Given the description of an element on the screen output the (x, y) to click on. 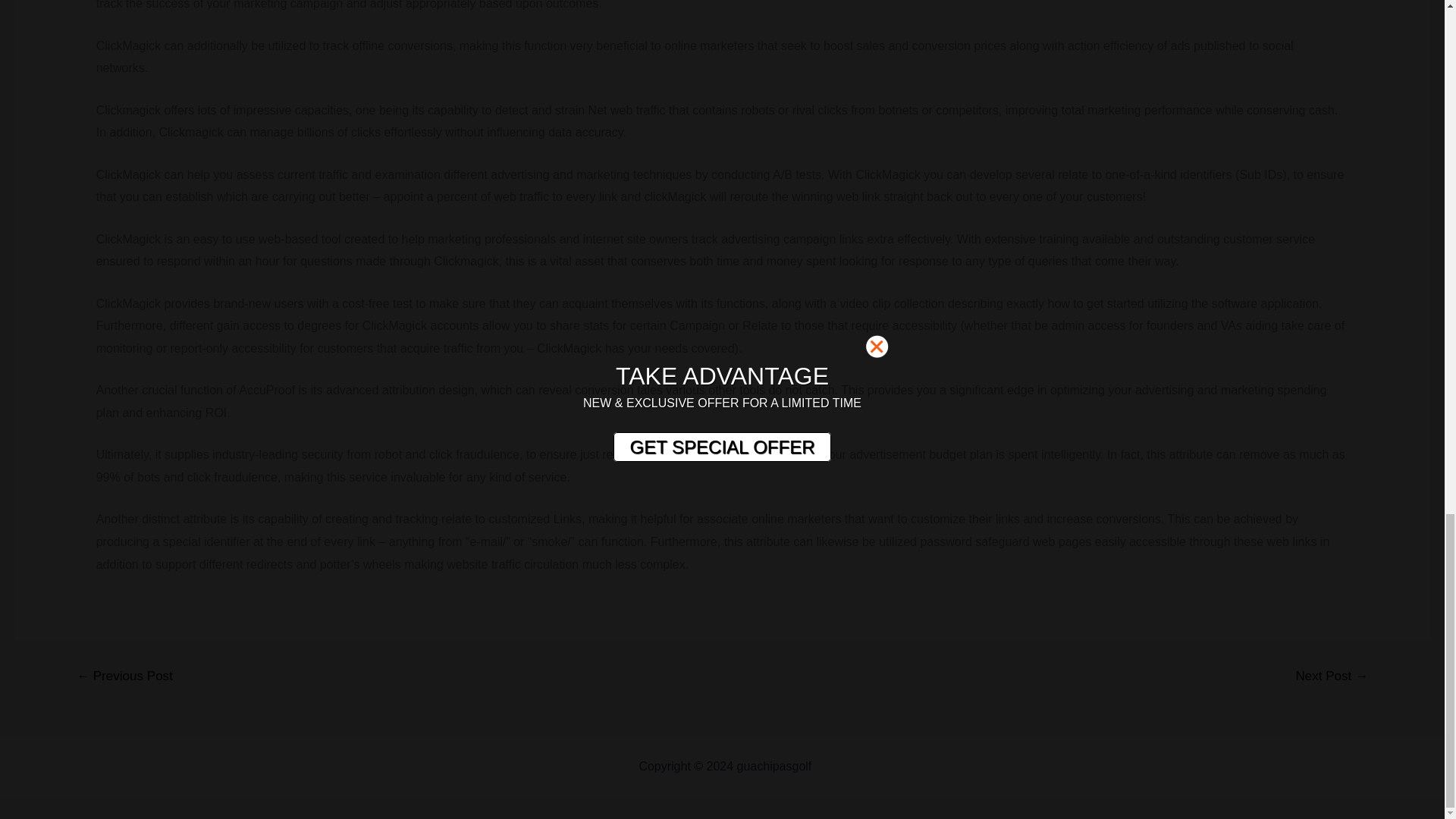
Sitemap (837, 766)
